Given the description of an element on the screen output the (x, y) to click on. 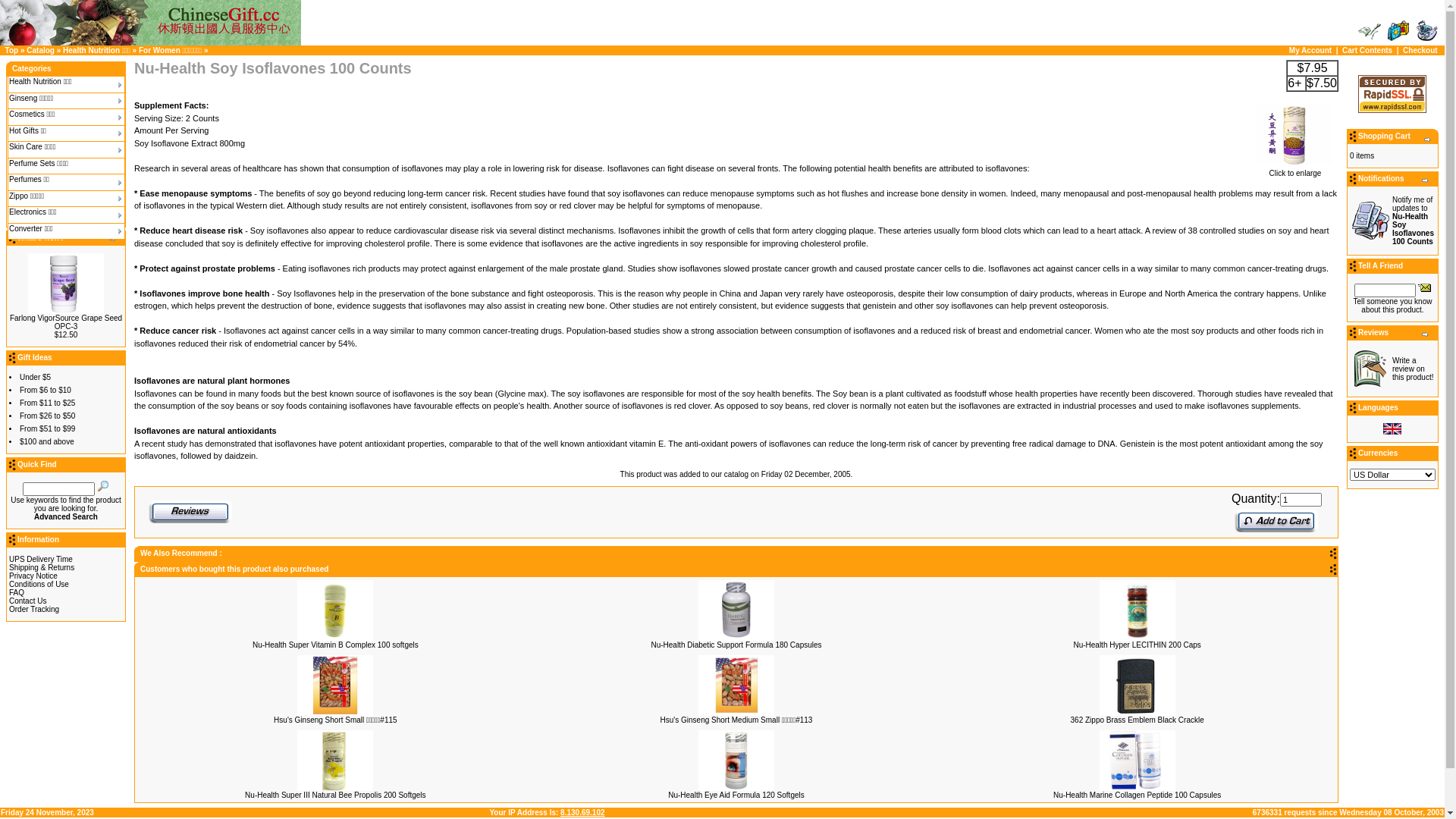
Nu-Health Super III Natural Bee Propolis 200 Softgels Element type: text (334, 794)
UPS Delivery Time Element type: text (40, 559)
Shipping & Returns Element type: text (41, 567)
Cart Contents Element type: text (1367, 50)
Nu-Health Hyper LECITHIN 200 Caps Element type: text (1136, 644)
 Nu-Health Hyper LECITHIN 200 Caps  Element type: hover (1137, 609)
 English  Element type: hover (1392, 428)
FAQ Element type: text (16, 592)
 Farlong VigorSource Grape Seed OPC-3  Element type: hover (65, 283)
Farlong VigorSource Grape Seed OPC-3 Element type: text (65, 321)
Conditions of Use Element type: text (39, 584)
Write a review on this product! Element type: text (1412, 368)
 osCommerce  Element type: hover (150, 22)
 Tell A Friend  Element type: hover (1424, 287)
Under $5 Element type: text (34, 377)
From $51 to $99 Element type: text (47, 428)
 Reviews  Element type: hover (190, 511)
Privacy Notice Element type: text (33, 575)
Checkout Element type: text (1419, 50)
Click to enlarge Element type: text (1294, 169)
$100 and above Element type: text (46, 441)
Contact Us Element type: text (27, 600)
 Cart Contents  Element type: hover (1397, 30)
 Checkout  Element type: hover (1426, 30)
Top Element type: text (11, 50)
 more  Element type: hover (1425, 334)
 Nu-Health Soy Isoflavones 100 Counts  Element type: hover (1295, 134)
Nu-Health Marine Collagen Peptide 100 Capsules Element type: text (1136, 794)
Order Tracking Element type: text (34, 609)
 Write Review  Element type: hover (1370, 368)
From $6 to $10 Element type: text (45, 389)
 Nu-Health Super Vitamin B Complex 100 softgels  Element type: hover (335, 609)
 Nu-Health Eye Aid Formula 120 Softgels  Element type: hover (736, 759)
Notify me of updates to Nu-Health Soy Isoflavones 100 Counts Element type: text (1413, 220)
 My Account  Element type: hover (1369, 30)
Nu-Health Super Vitamin B Complex 100 softgels Element type: text (335, 644)
From $26 to $50 Element type: text (47, 415)
 Nu-Health Marine Collagen Peptide 100 Capsules  Element type: hover (1137, 759)
From $11 to $25 Element type: text (47, 402)
 Nu-Health Super III Natural Bee Propolis 200 Softgels  Element type: hover (335, 759)
362 Zippo Brass Emblem Black Crackle Element type: text (1137, 719)
Nu-Health Eye Aid Formula 120 Softgels Element type: text (736, 794)
Catalog Element type: text (40, 50)
Advanced Search Element type: text (65, 516)
 Notifications  Element type: hover (1370, 220)
 Nu-Health Diabetic Support Formula 180 Capsules  Element type: hover (736, 609)
 more  Element type: hover (112, 238)
My Account Element type: text (1310, 50)
 Add to Cart  Element type: hover (1275, 520)
 more  Element type: hover (1425, 179)
 Quick Find  Element type: hover (103, 486)
Nu-Health Diabetic Support Formula 180 Capsules Element type: text (735, 644)
 362 Zippo Brass Emblem Black Crackle  Element type: hover (1137, 685)
 more  Element type: hover (1427, 139)
